Given the description of an element on the screen output the (x, y) to click on. 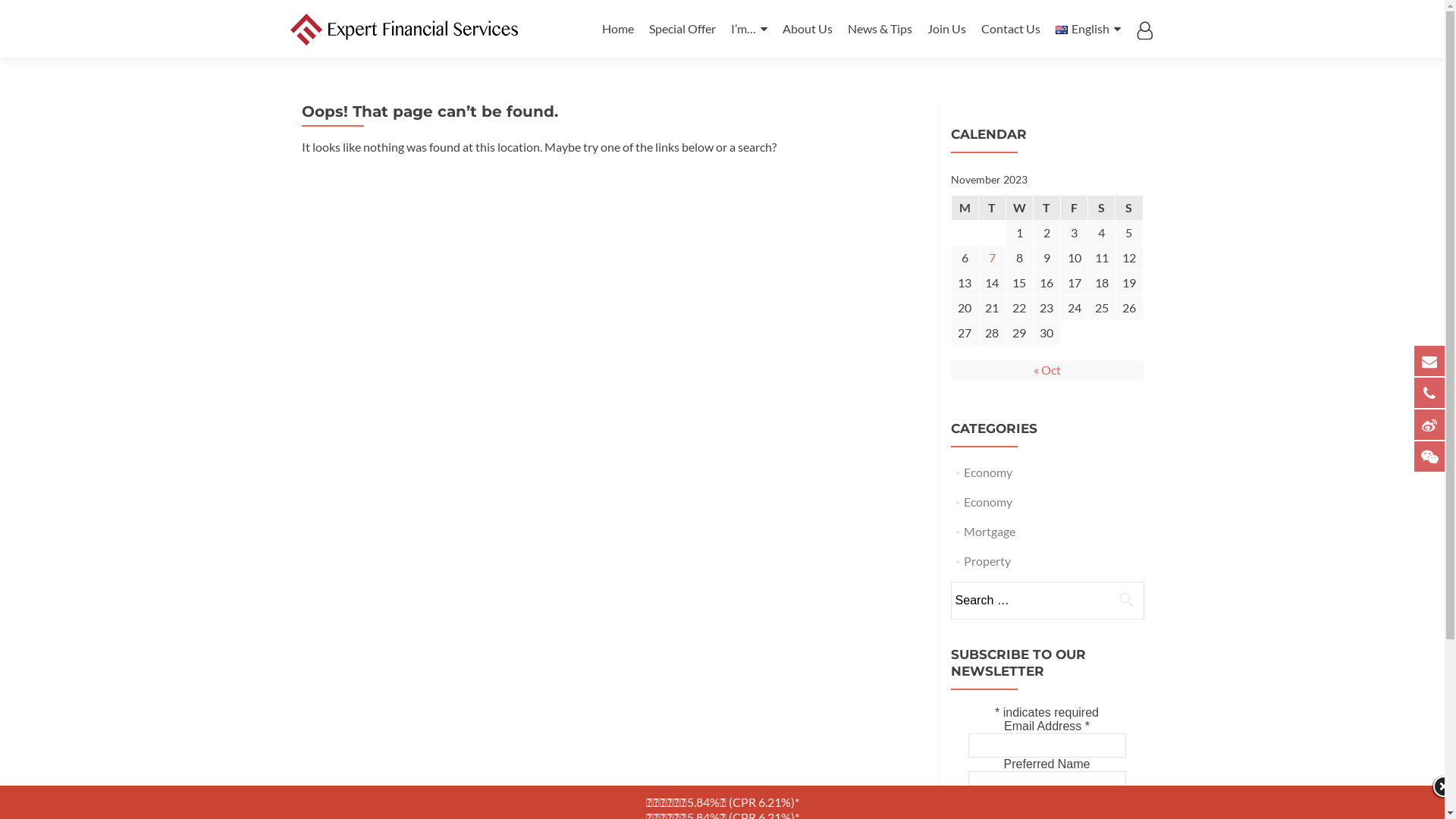
Home Element type: text (617, 28)
News & Tips Element type: text (879, 28)
Property Element type: text (986, 560)
Join Us Element type: text (946, 28)
login Element type: hover (1144, 28)
Economy Element type: text (987, 471)
7 Element type: text (992, 257)
Economy Element type: text (987, 501)
English Element type: text (1087, 28)
Contact Us Element type: text (1010, 28)
Special Offer Element type: text (682, 28)
Search Element type: text (1125, 598)
About Us Element type: text (807, 28)
Mortgage Element type: text (989, 531)
